Given the description of an element on the screen output the (x, y) to click on. 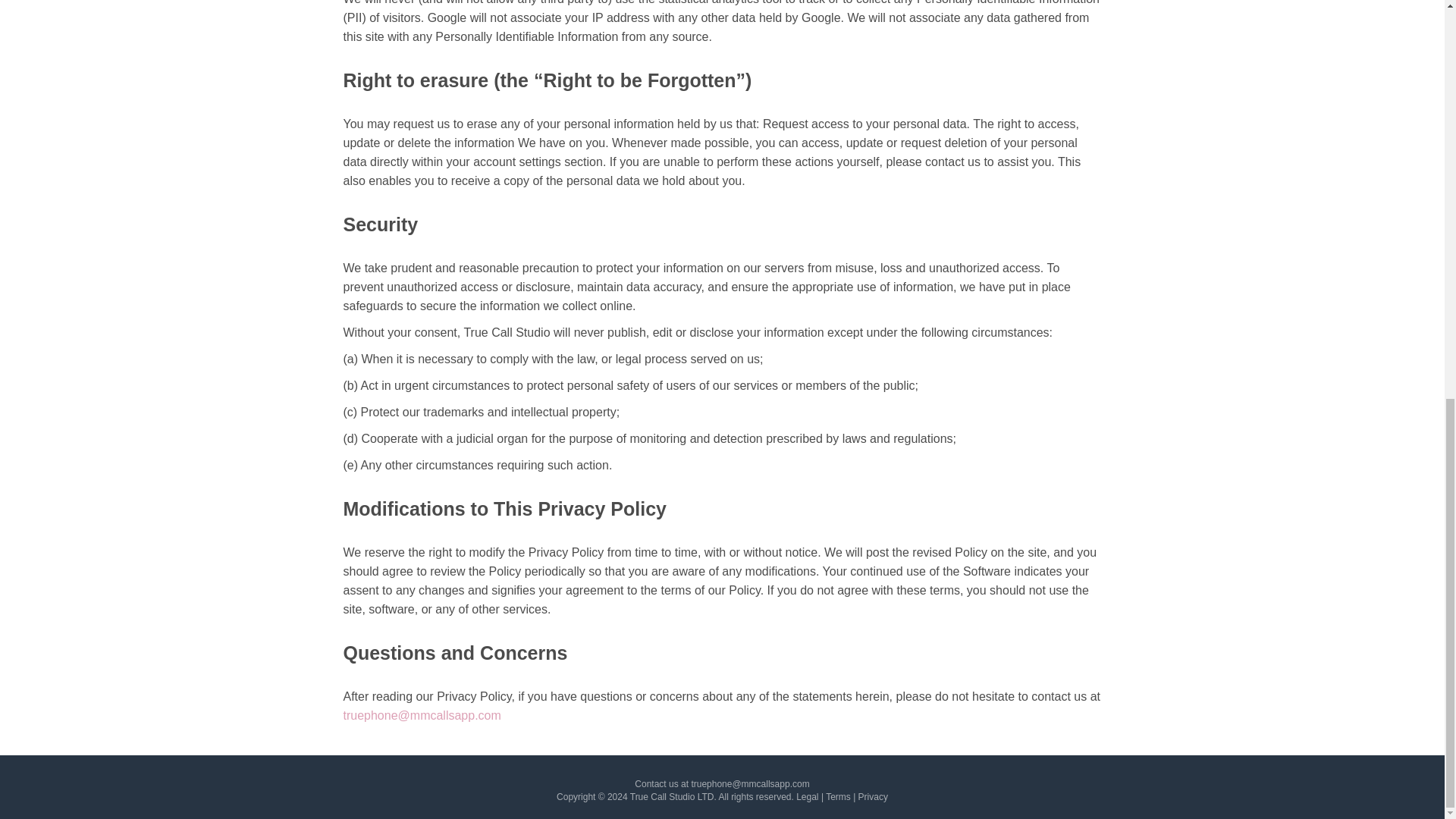
Terms (837, 796)
Privacy (873, 796)
Legal (807, 796)
